Given the description of an element on the screen output the (x, y) to click on. 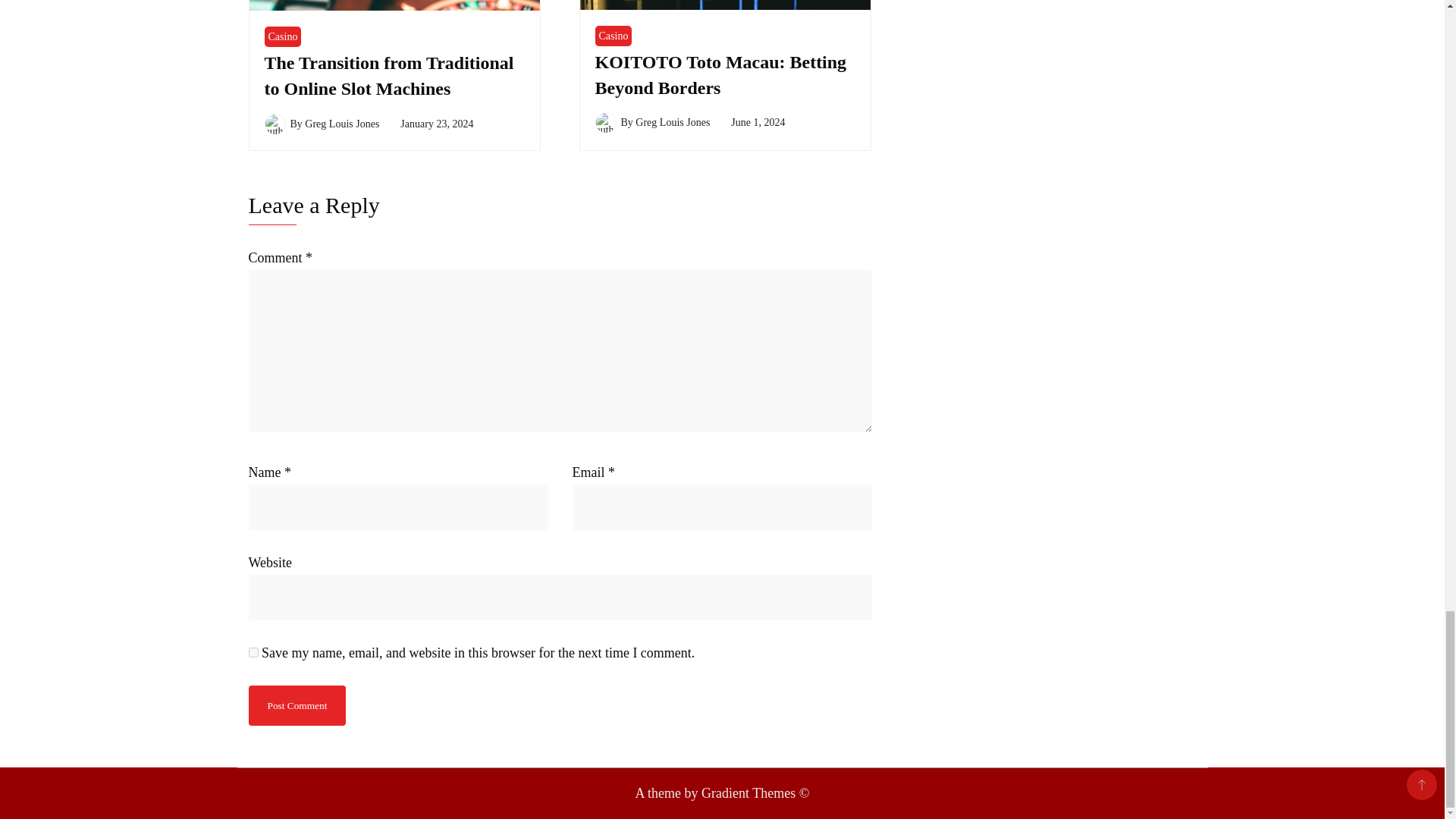
Casino (612, 35)
KOITOTO Toto Macau: Betting Beyond Borders (719, 74)
yes (253, 652)
Post Comment (297, 705)
Greg Louis Jones (341, 123)
January 23, 2024 (436, 123)
Casino (282, 36)
Greg Louis Jones (672, 122)
Post Comment (297, 705)
The Transition from Traditional to Online Slot Machines (388, 75)
June 1, 2024 (757, 122)
